Given the description of an element on the screen output the (x, y) to click on. 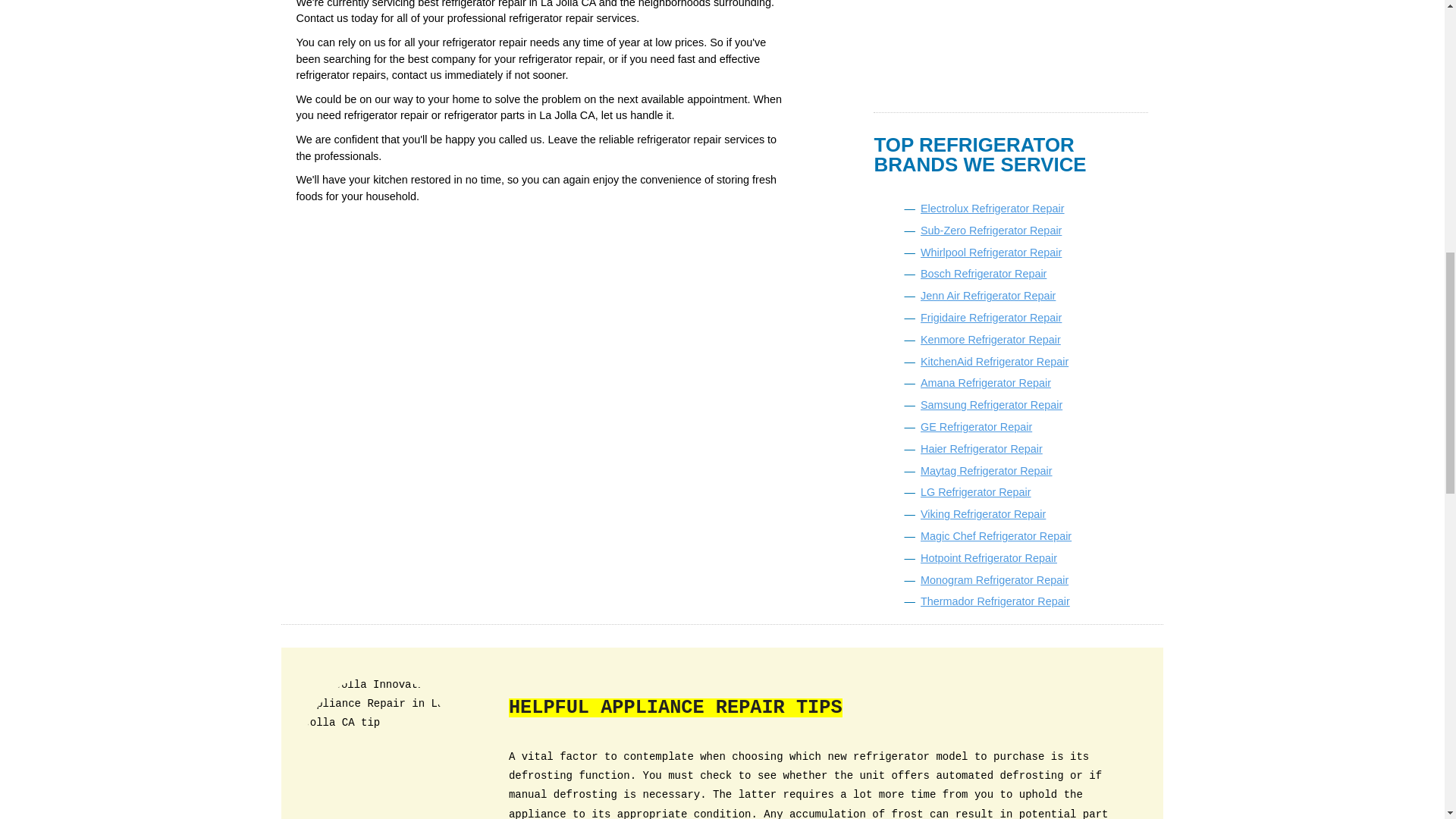
Monogram Refrigerator Repair (994, 580)
Electrolux Refrigerator Repair (992, 208)
Viking Refrigerator Repair (982, 513)
Jenn Air Refrigerator Repair (987, 295)
LG Refrigerator Repair (975, 491)
Whirlpool (990, 252)
Haier Refrigerator Repair (981, 449)
Maytag Refrigerator Repair (986, 470)
Thermador Refrigerator Repair (995, 601)
Bosch (983, 273)
Jenn Air (987, 295)
Samsung Refrigerator Repair (991, 404)
Bosch Refrigerator Repair (983, 273)
Sub-Zero (990, 230)
Sub-Zero Refrigerator Repair (990, 230)
